Given the description of an element on the screen output the (x, y) to click on. 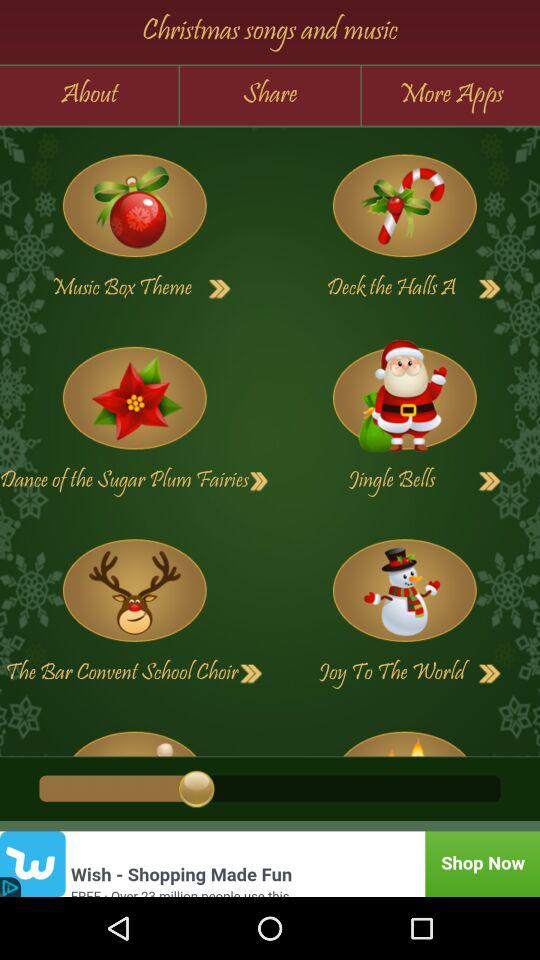
play deck the halls (404, 205)
